Given the description of an element on the screen output the (x, y) to click on. 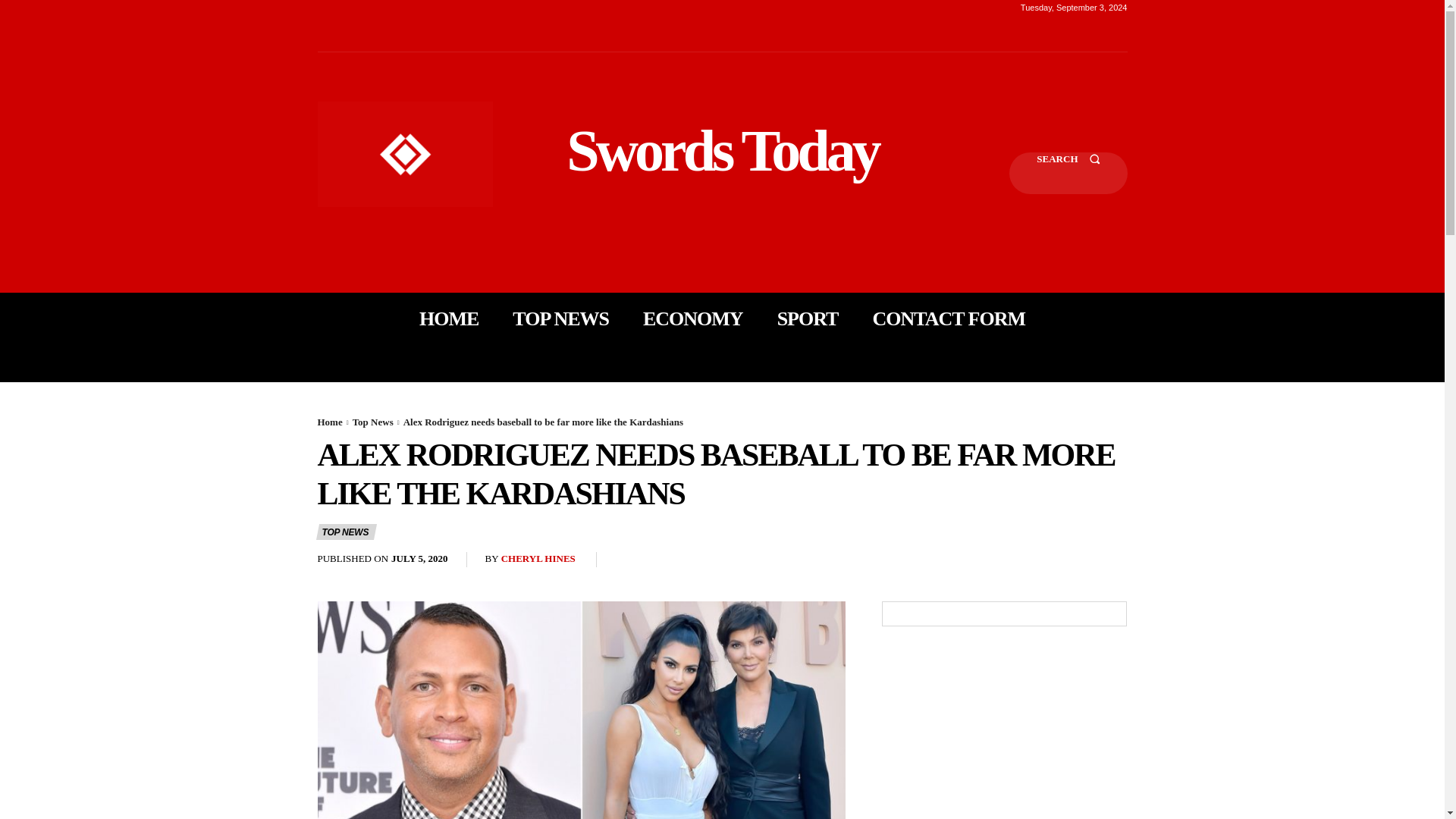
CHERYL HINES (537, 558)
SEARCH (1067, 173)
Alex Rodriguez needs baseball to be far more like the (580, 710)
ECONOMY (692, 318)
HOME (449, 318)
Top News (372, 421)
SPORT (807, 318)
TOP NEWS (560, 318)
View all posts in Top News (372, 421)
Swords Today (722, 149)
